Given the description of an element on the screen output the (x, y) to click on. 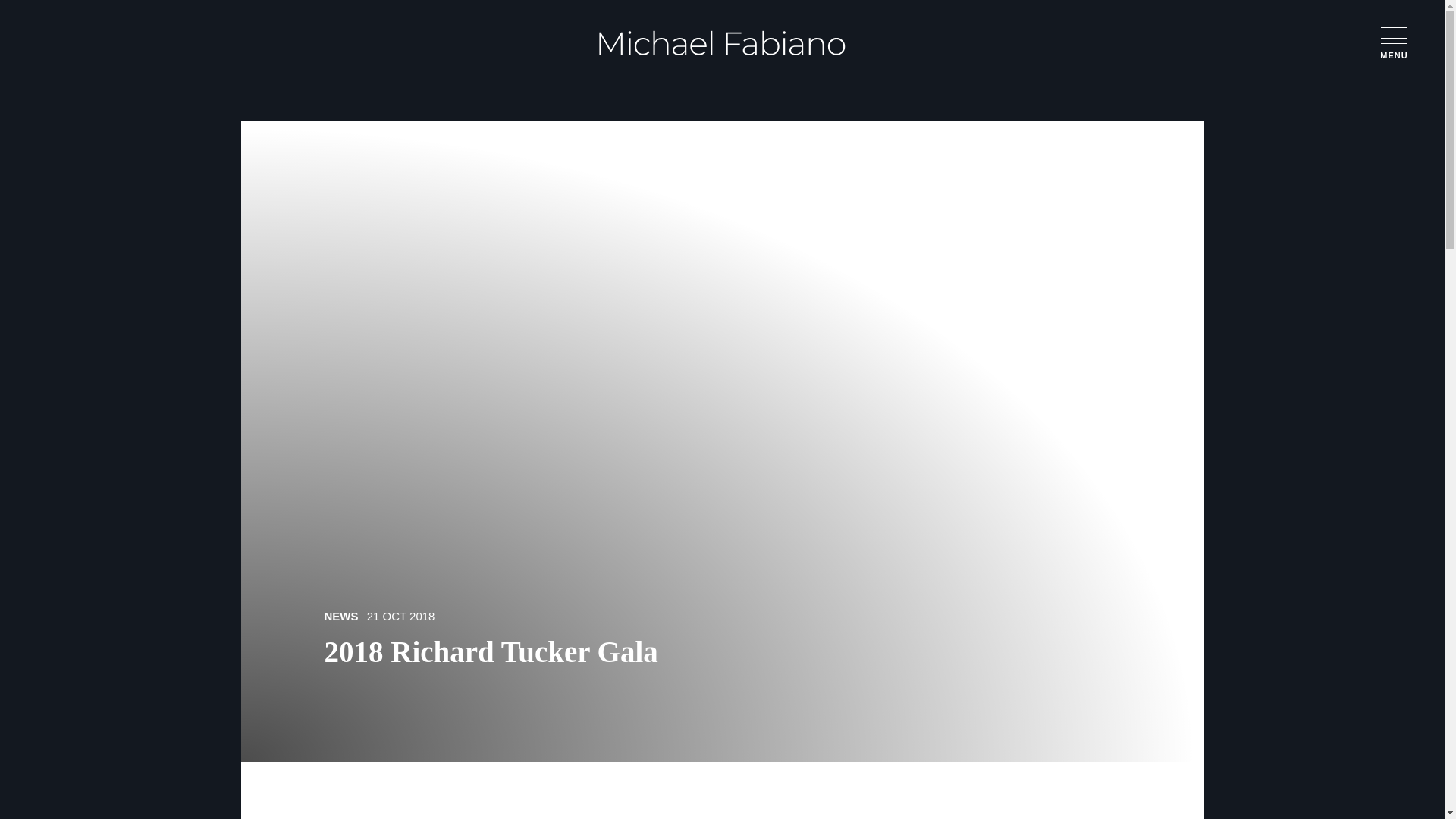
Michael Fabiano (721, 43)
